Given the description of an element on the screen output the (x, y) to click on. 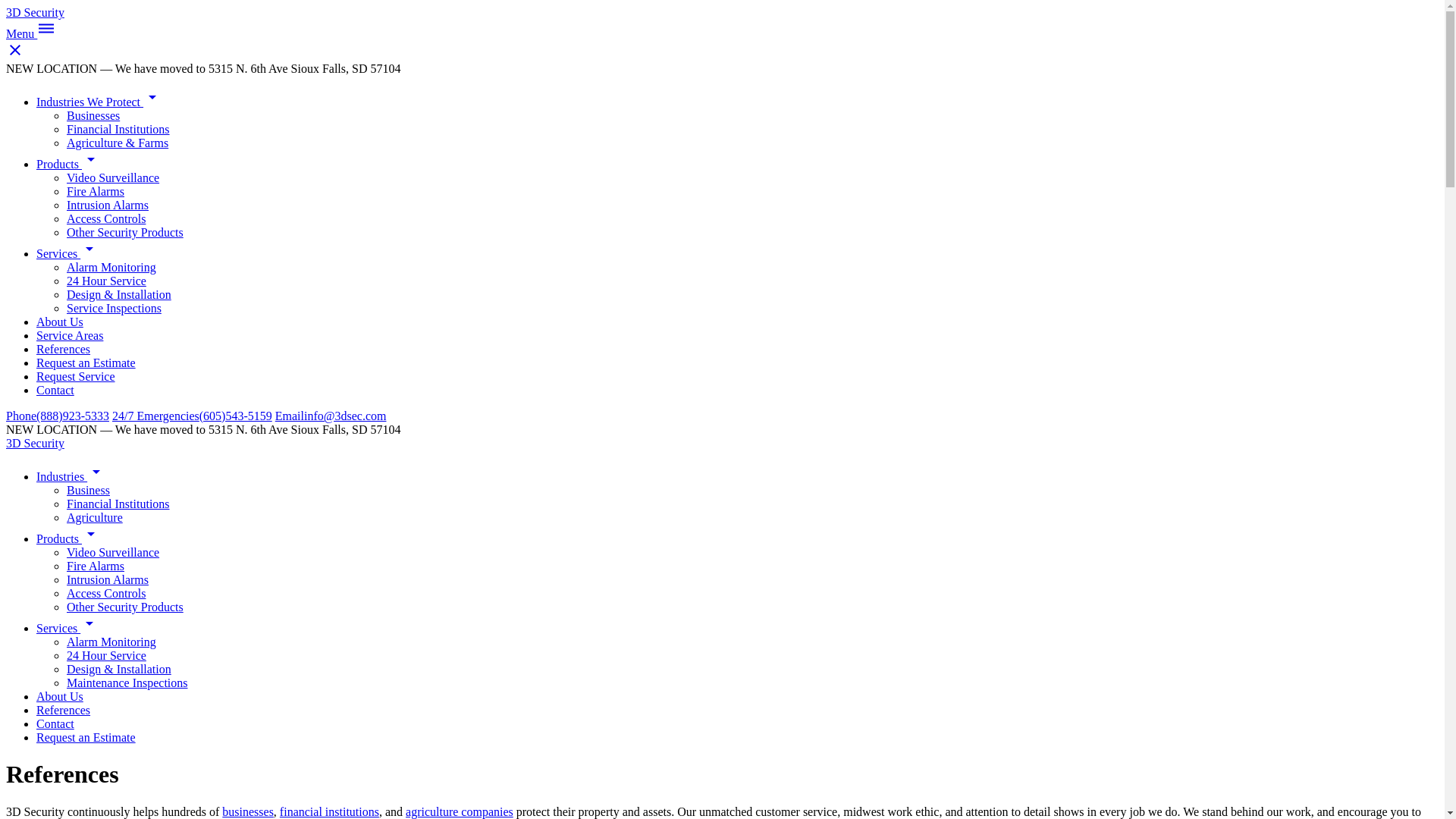
Businesses Element type: text (92, 115)
Fire Alarms Element type: text (95, 191)
Request an Estimate Element type: text (85, 362)
Intrusion Alarms Element type: text (107, 204)
3D Security Element type: text (35, 12)
Emailinfo@3dsec.com Element type: text (330, 415)
References Element type: text (63, 348)
Agriculture & Farms Element type: text (117, 142)
24 Hour Service Element type: text (106, 655)
Alarm Monitoring Element type: text (111, 641)
About Us Element type: text (59, 321)
agriculture companies Element type: text (459, 811)
Service Areas Element type: text (69, 335)
Maintenance Inspections Element type: text (127, 682)
Fire Alarms Element type: text (95, 565)
Design & Installation Element type: text (118, 668)
Intrusion Alarms Element type: text (107, 579)
Request Service Element type: text (75, 376)
Phone(888)923-5333 Element type: text (57, 415)
Financial Institutions Element type: text (117, 128)
Contact Element type: text (55, 389)
Business Element type: text (87, 489)
financial institutions Element type: text (329, 811)
Design & Installation Element type: text (118, 294)
3D Security Element type: text (35, 442)
24 Hour Service Element type: text (106, 280)
About Us Element type: text (59, 696)
Other Security Products Element type: text (124, 231)
Video Surveillance Element type: text (112, 177)
Service Inspections Element type: text (113, 307)
Access Controls Element type: text (105, 592)
Agriculture Element type: text (94, 517)
businesses Element type: text (247, 811)
Financial Institutions Element type: text (117, 503)
Video Surveillance Element type: text (112, 552)
Access Controls Element type: text (105, 218)
Request an Estimate Element type: text (85, 737)
Contact Element type: text (55, 723)
Alarm Monitoring Element type: text (111, 266)
24/7 Emergencies(605)543-5159 Element type: text (192, 415)
Other Security Products Element type: text (124, 606)
References Element type: text (63, 709)
